Given the description of an element on the screen output the (x, y) to click on. 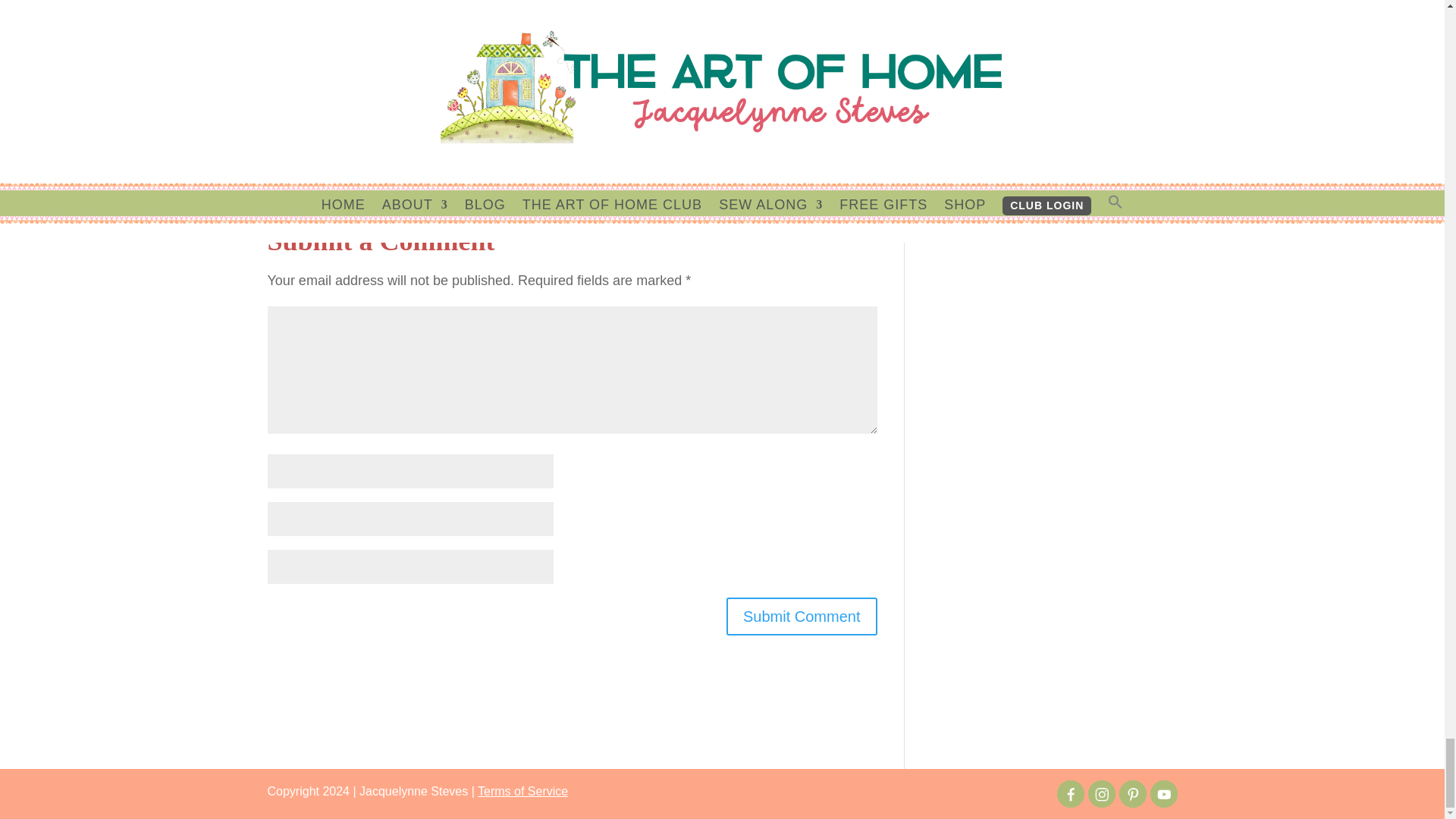
Submit Comment (801, 616)
